Given the description of an element on the screen output the (x, y) to click on. 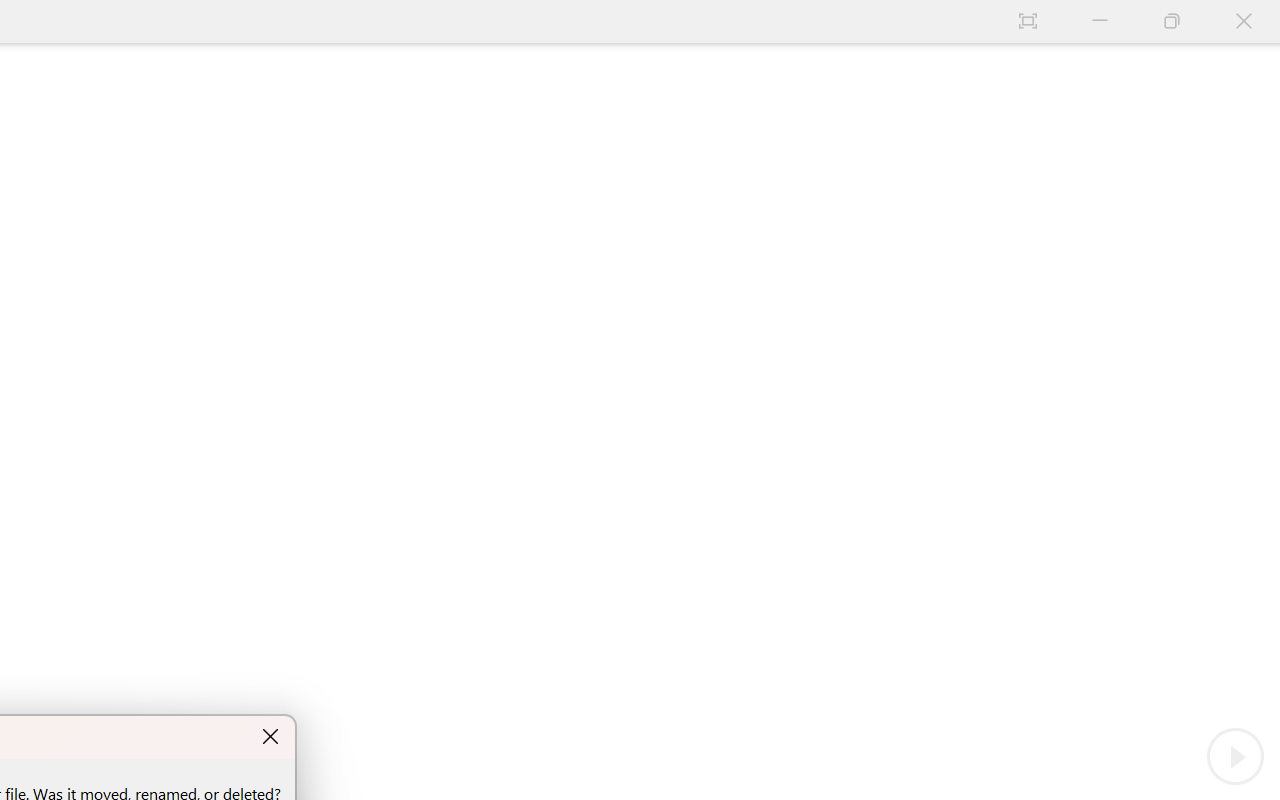
Minimize (1099, 21)
Close (1244, 21)
Auto-hide Reading Toolbar (1027, 21)
Restore Down (1172, 21)
